Given the description of an element on the screen output the (x, y) to click on. 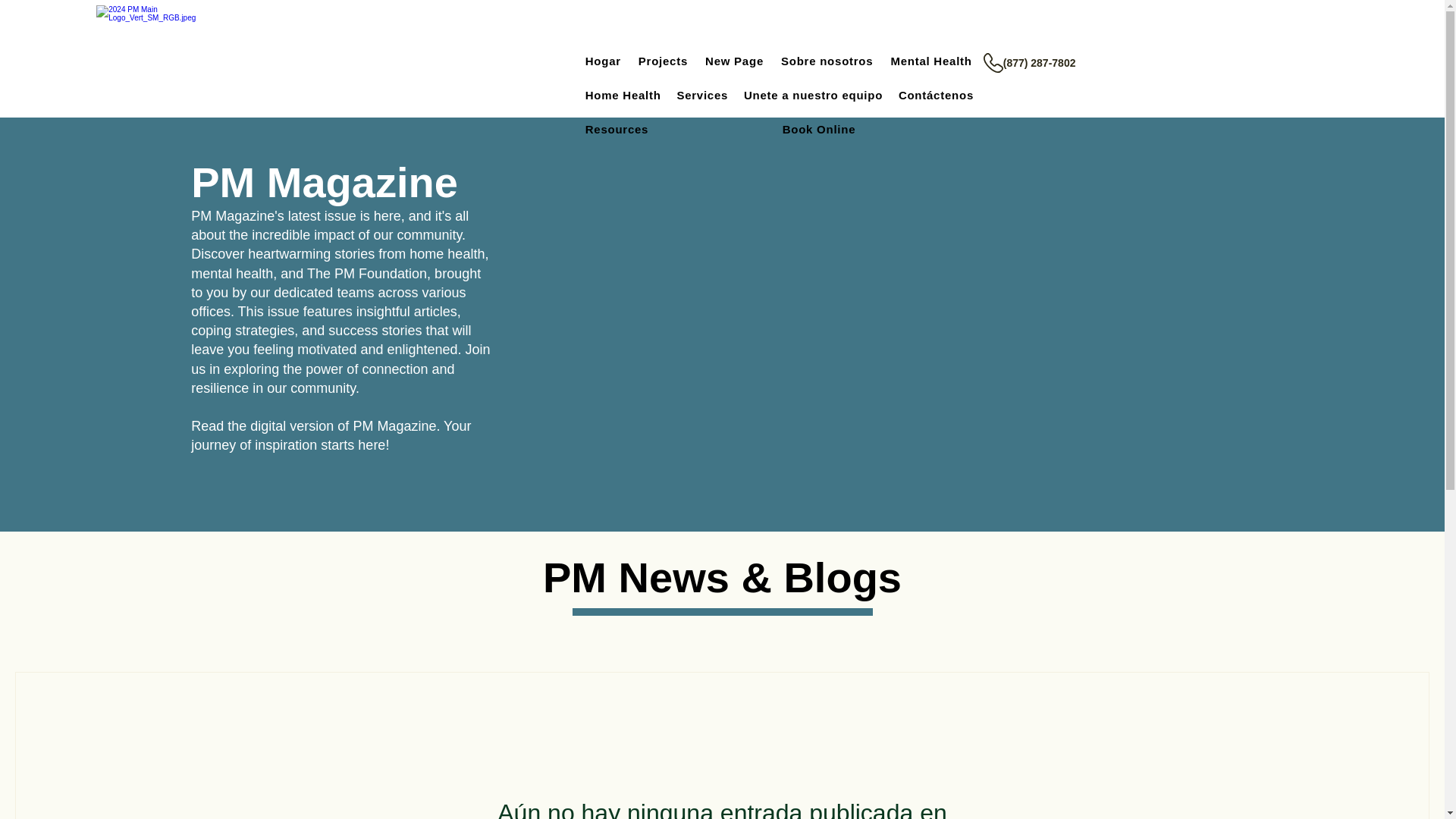
Sobre nosotros (828, 60)
New Page (736, 60)
Book Online (880, 129)
Projects (664, 60)
Hogar (605, 60)
